Given the description of an element on the screen output the (x, y) to click on. 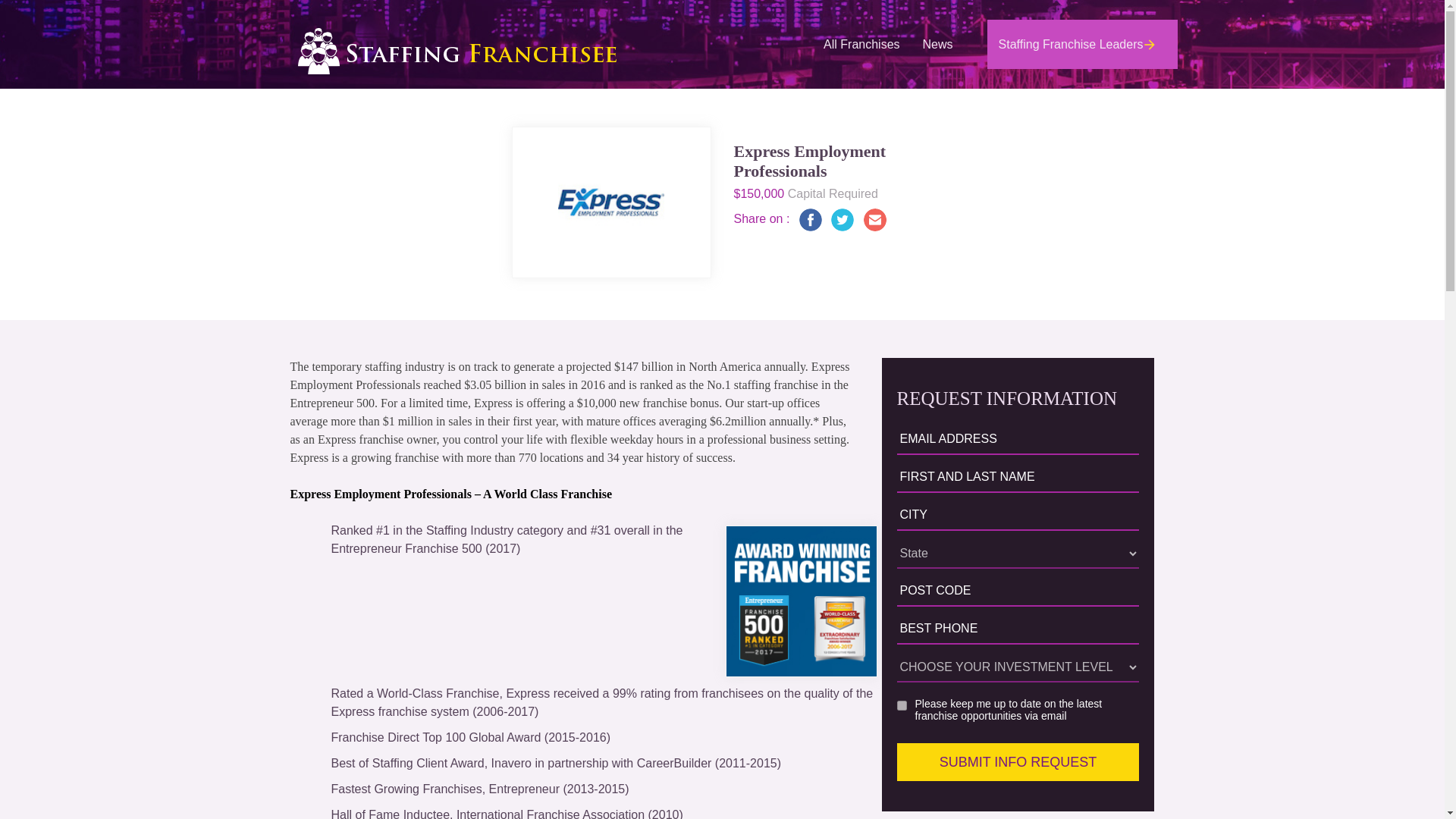
Submit Info Request (1017, 761)
Staffing Franchise Leaders (1082, 43)
1 (800, 601)
Submit Info Request (1017, 761)
News (937, 43)
All Franchises (861, 43)
